Given the description of an element on the screen output the (x, y) to click on. 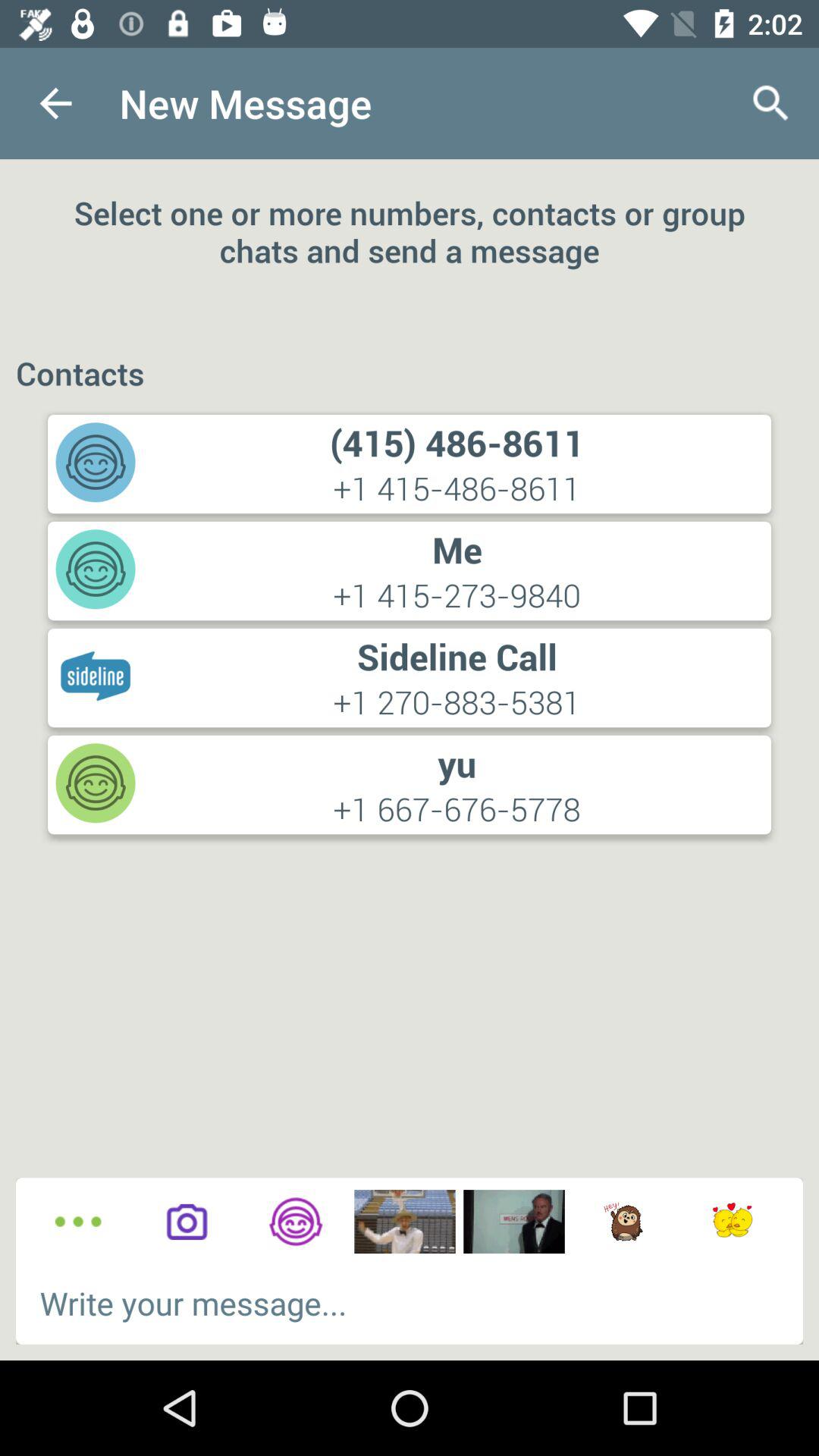
insert animated emoji into my message (622, 1221)
